Given the description of an element on the screen output the (x, y) to click on. 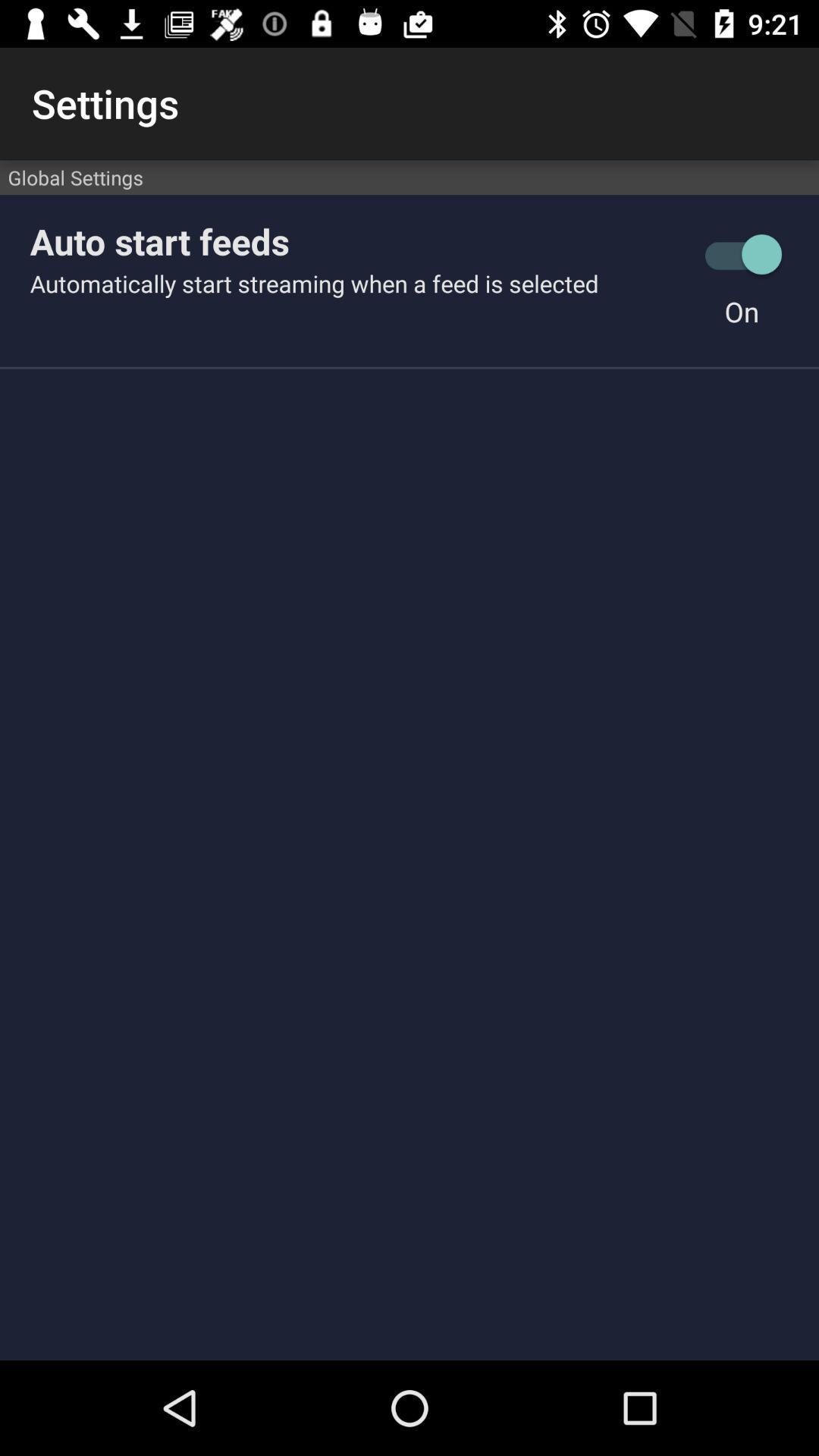
turn on the item above the automatically start streaming item (357, 241)
